Given the description of an element on the screen output the (x, y) to click on. 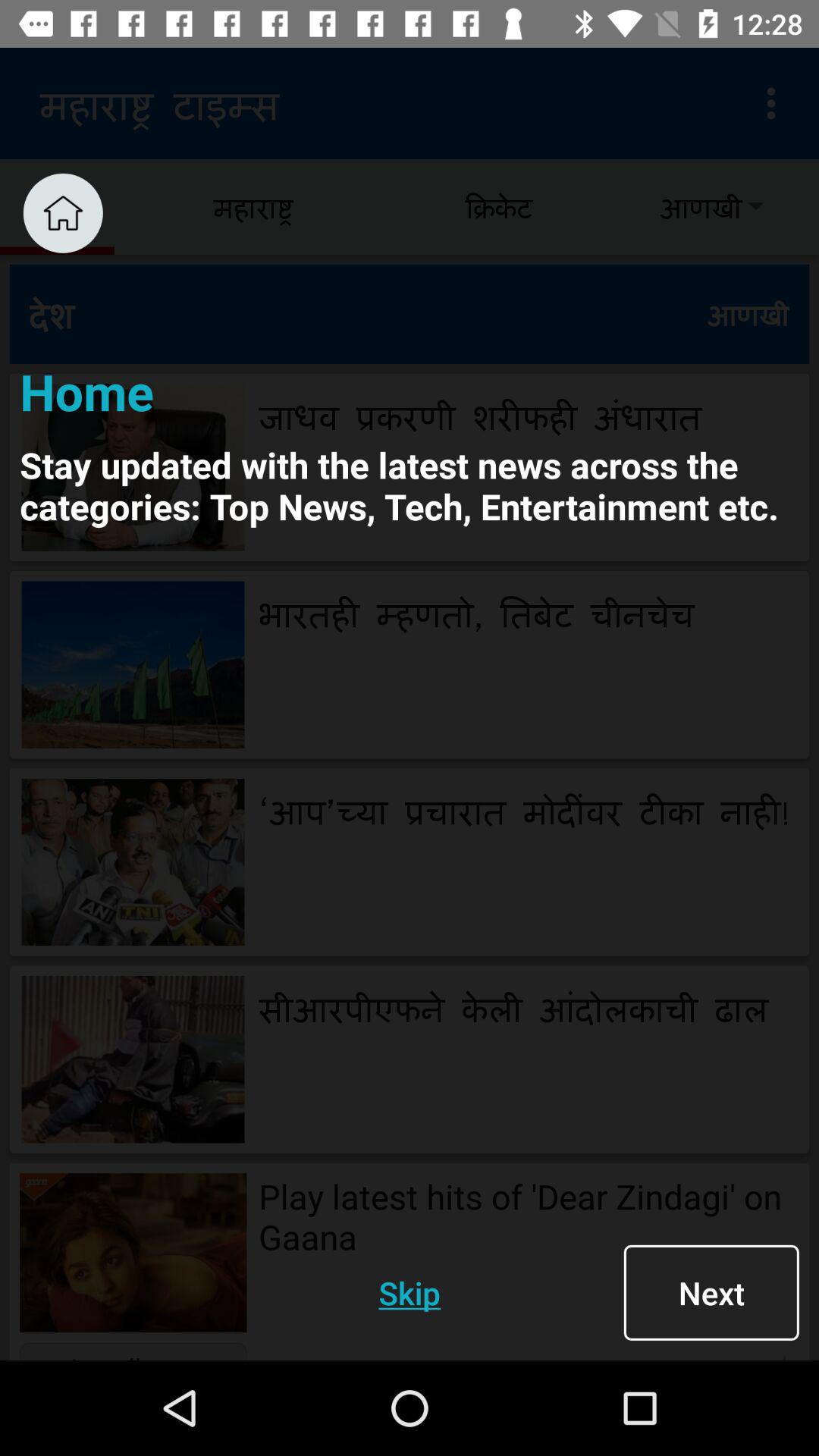
going to home (62, 213)
